Given the description of an element on the screen output the (x, y) to click on. 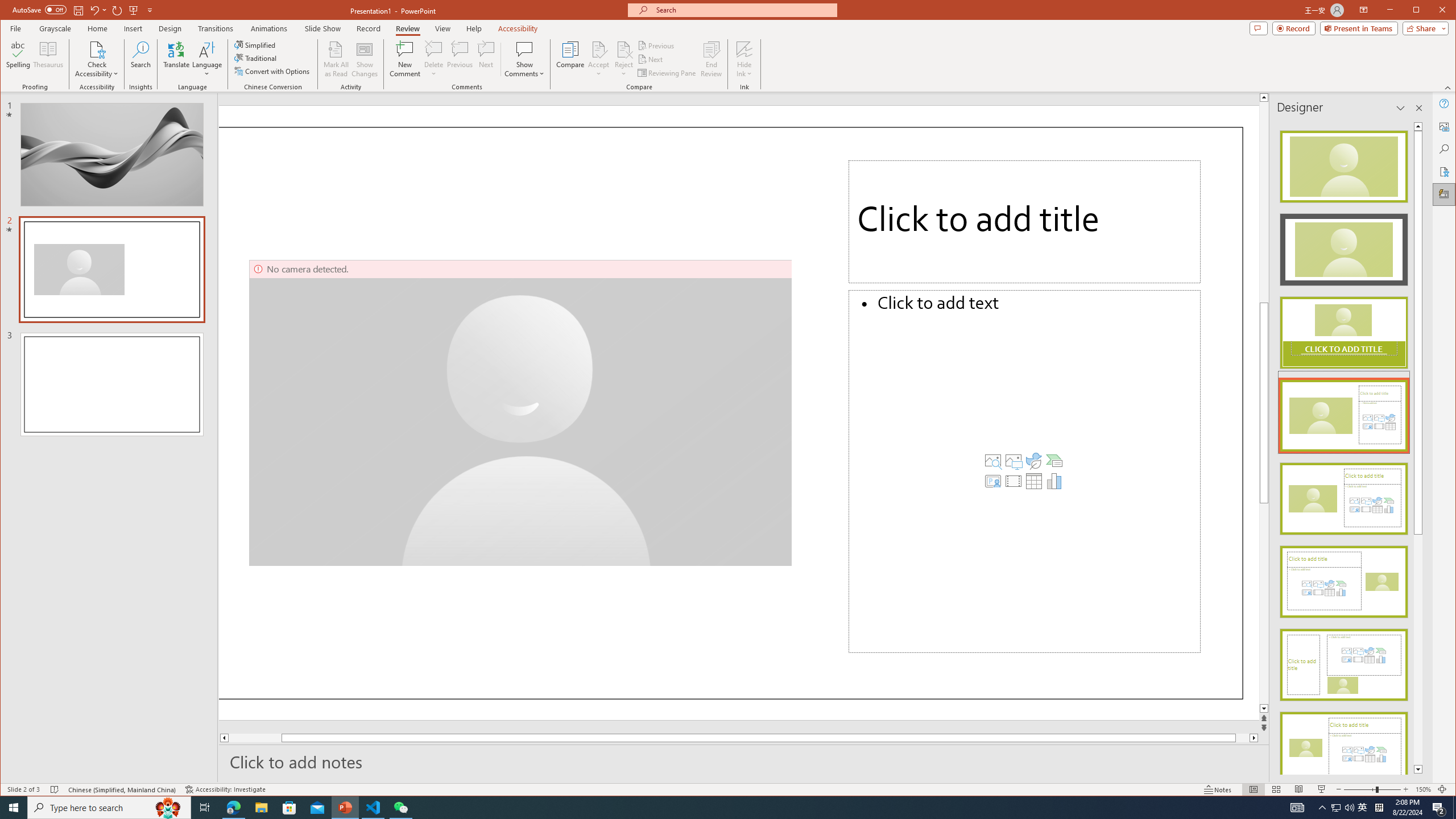
Show Changes (365, 59)
New Comment (405, 59)
Decorative Locked (730, 412)
Translate (175, 59)
Convert with Options... (272, 70)
